Given the description of an element on the screen output the (x, y) to click on. 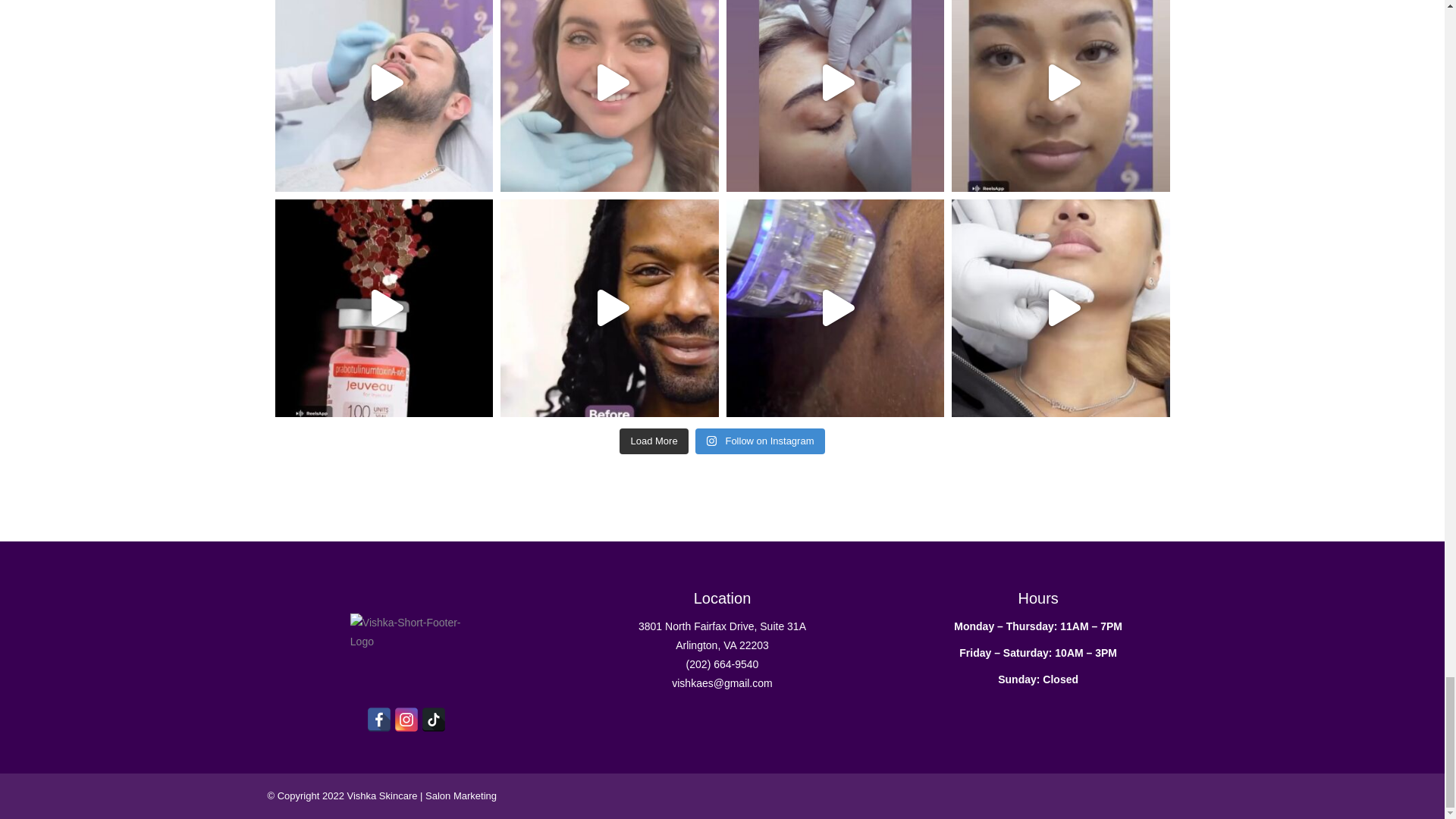
Facebook (378, 719)
